Given the description of an element on the screen output the (x, y) to click on. 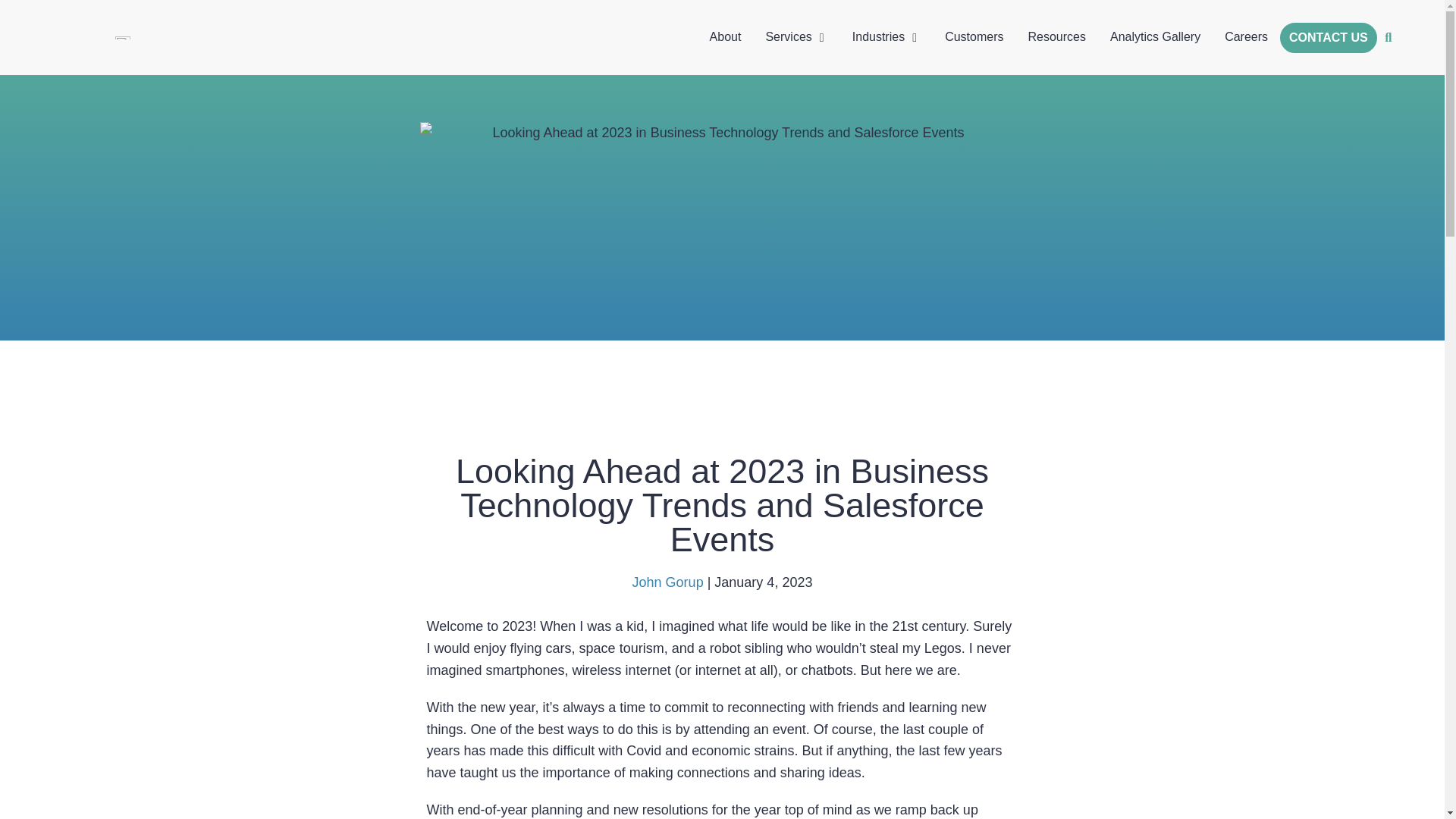
About (725, 37)
Services (787, 37)
John Gorup (667, 581)
